Given the description of an element on the screen output the (x, y) to click on. 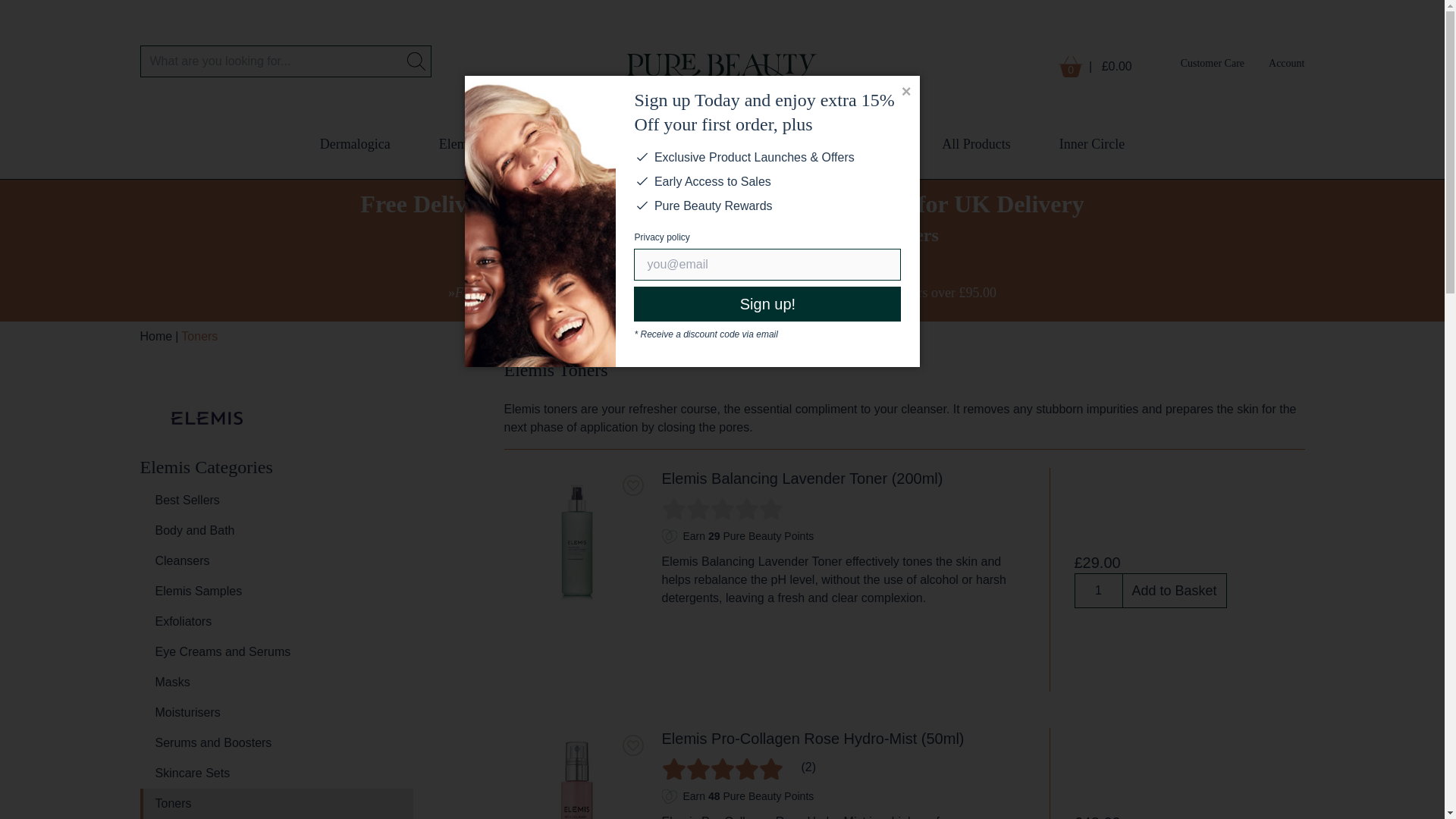
1 (1098, 590)
This item isn't your favourites (632, 744)
Dermalogica (354, 143)
This item isn't your favourites (632, 485)
Customer Care (1212, 62)
Account (1286, 62)
